Given the description of an element on the screen output the (x, y) to click on. 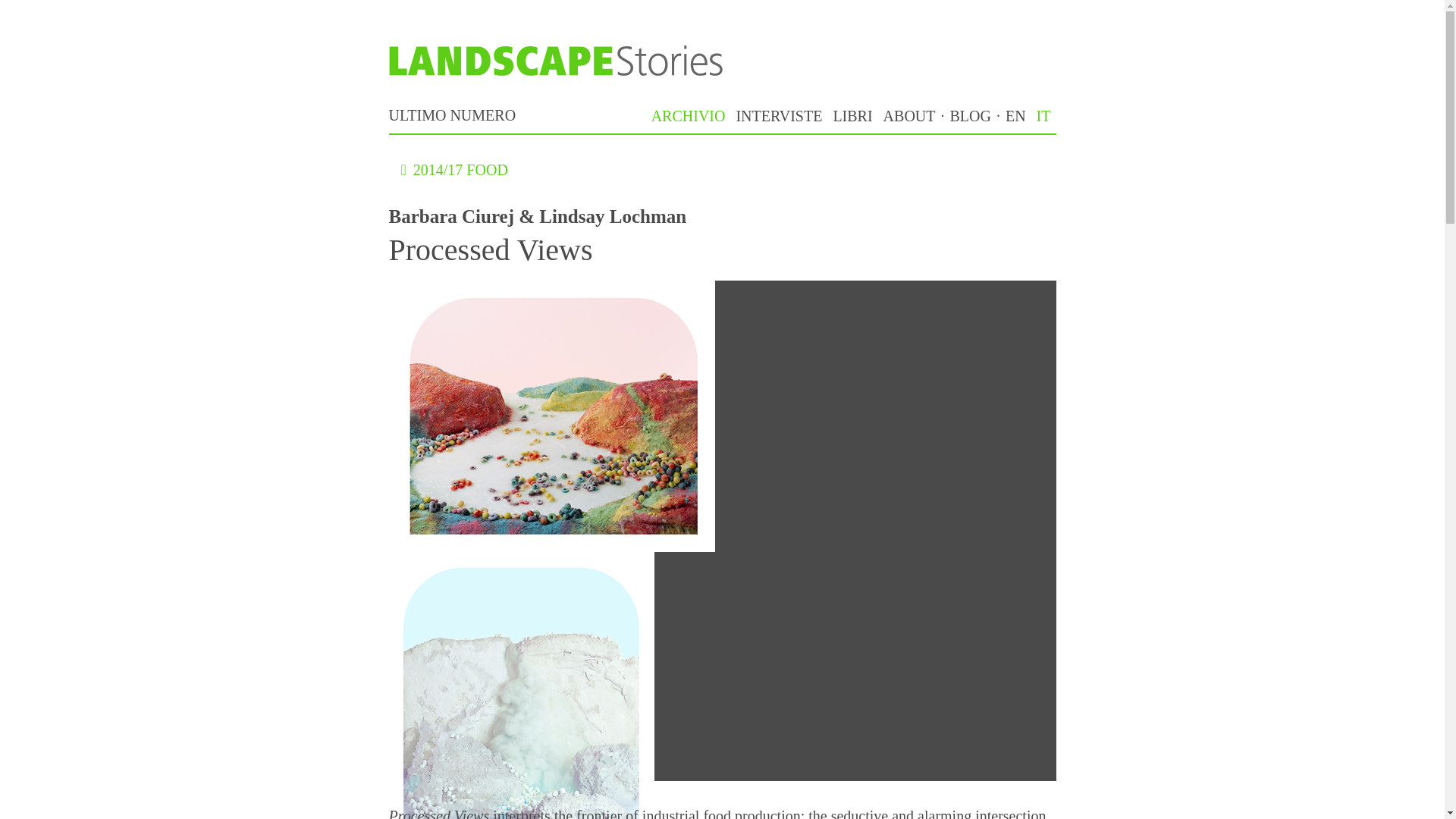
ULTIMO NUMERO (451, 115)
ARCHIVIO (688, 115)
